Given the description of an element on the screen output the (x, y) to click on. 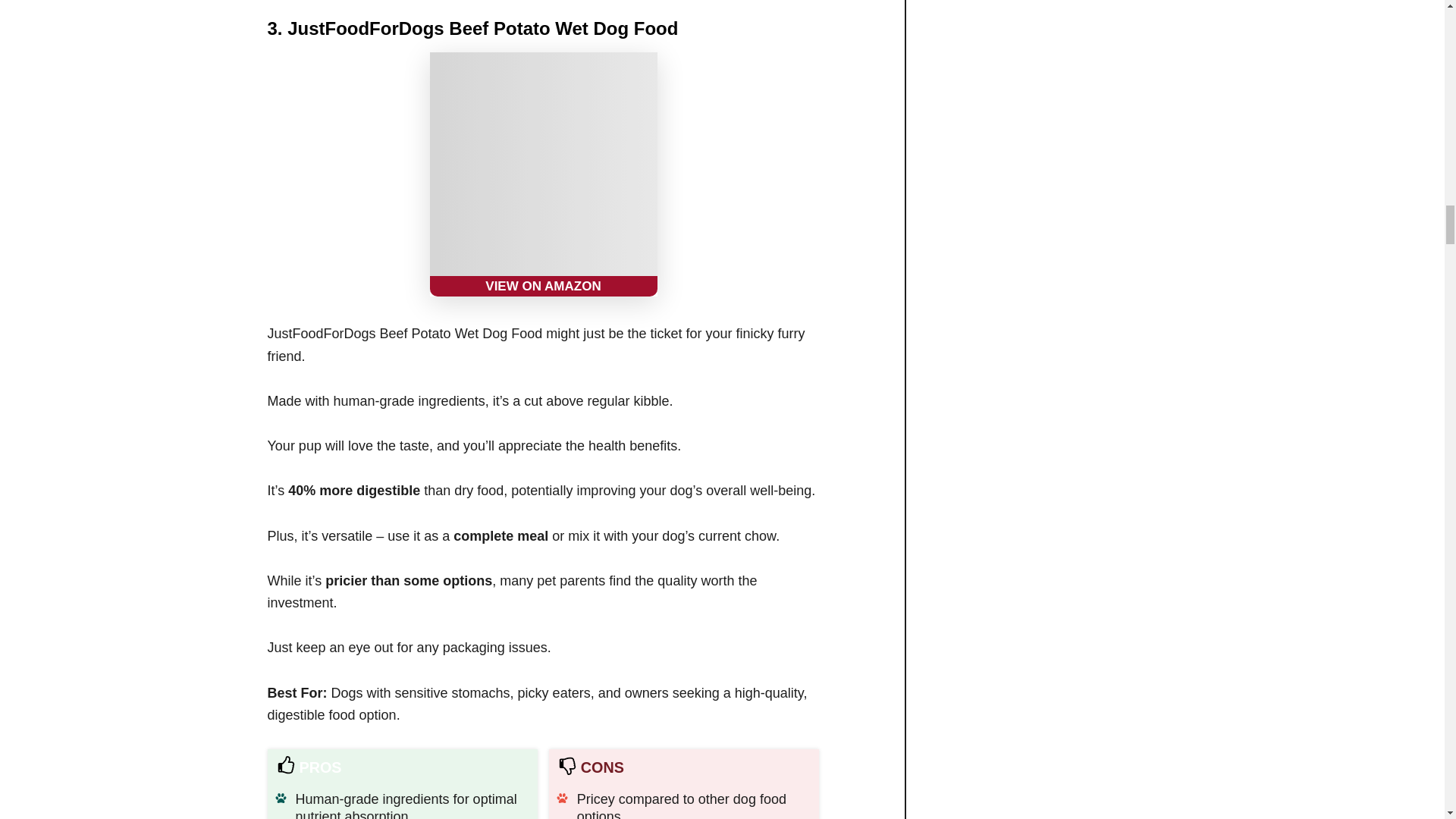
JustFoodForDogs Pantry Fresh Wet Dog (542, 174)
